Given the description of an element on the screen output the (x, y) to click on. 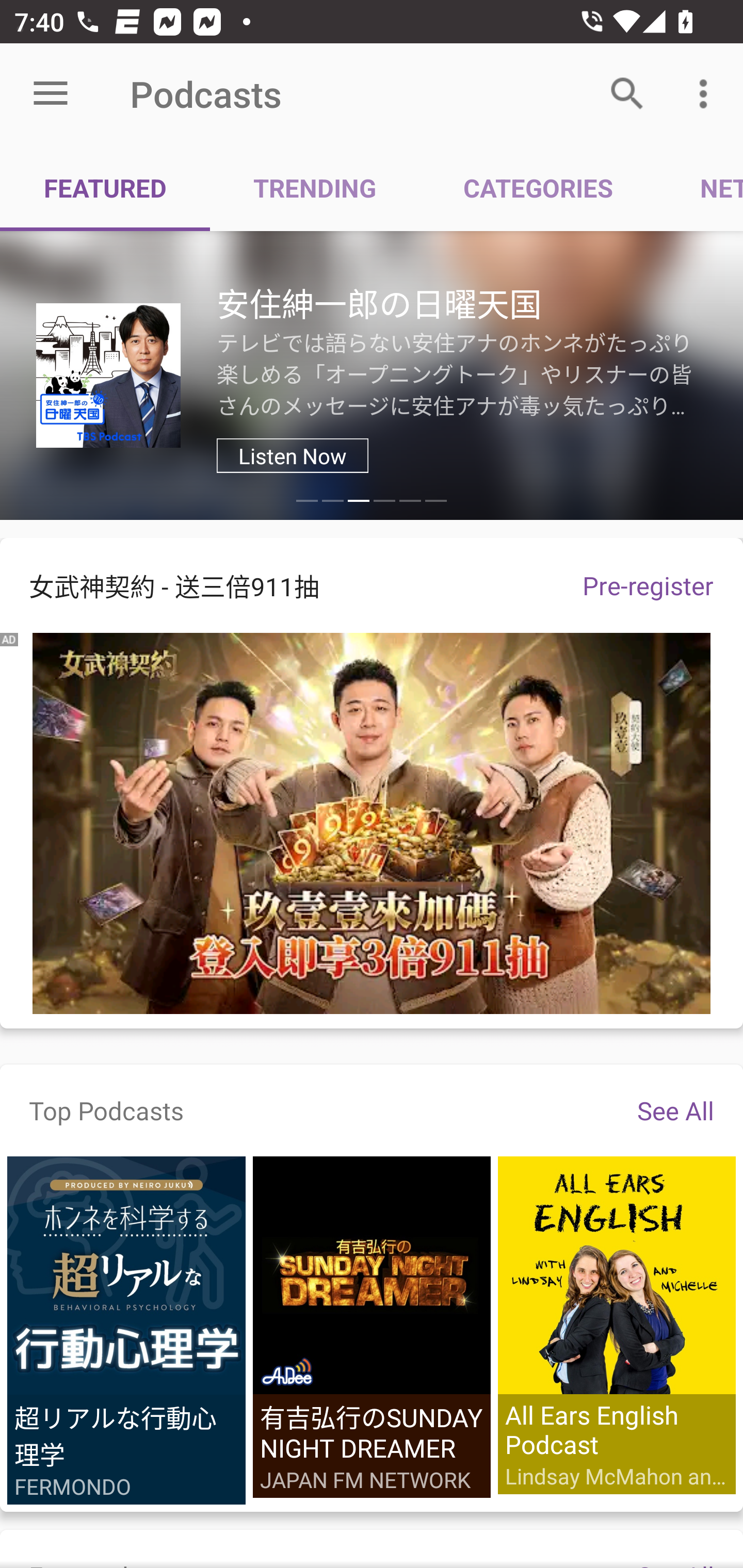
Open menu (50, 93)
Search (626, 93)
More options (706, 93)
FEATURED (105, 187)
TRENDING (314, 187)
CATEGORIES (537, 187)
女武神契約 - 送三倍911抽 (276, 585)
Pre-register (648, 584)
Top Podcasts (106, 1109)
See All (675, 1109)
超リアルな行動心理学 FERMONDO (126, 1331)
有吉弘行のSUNDAY NIGHT DREAMER JAPAN FM NETWORK (371, 1327)
